Given the description of an element on the screen output the (x, y) to click on. 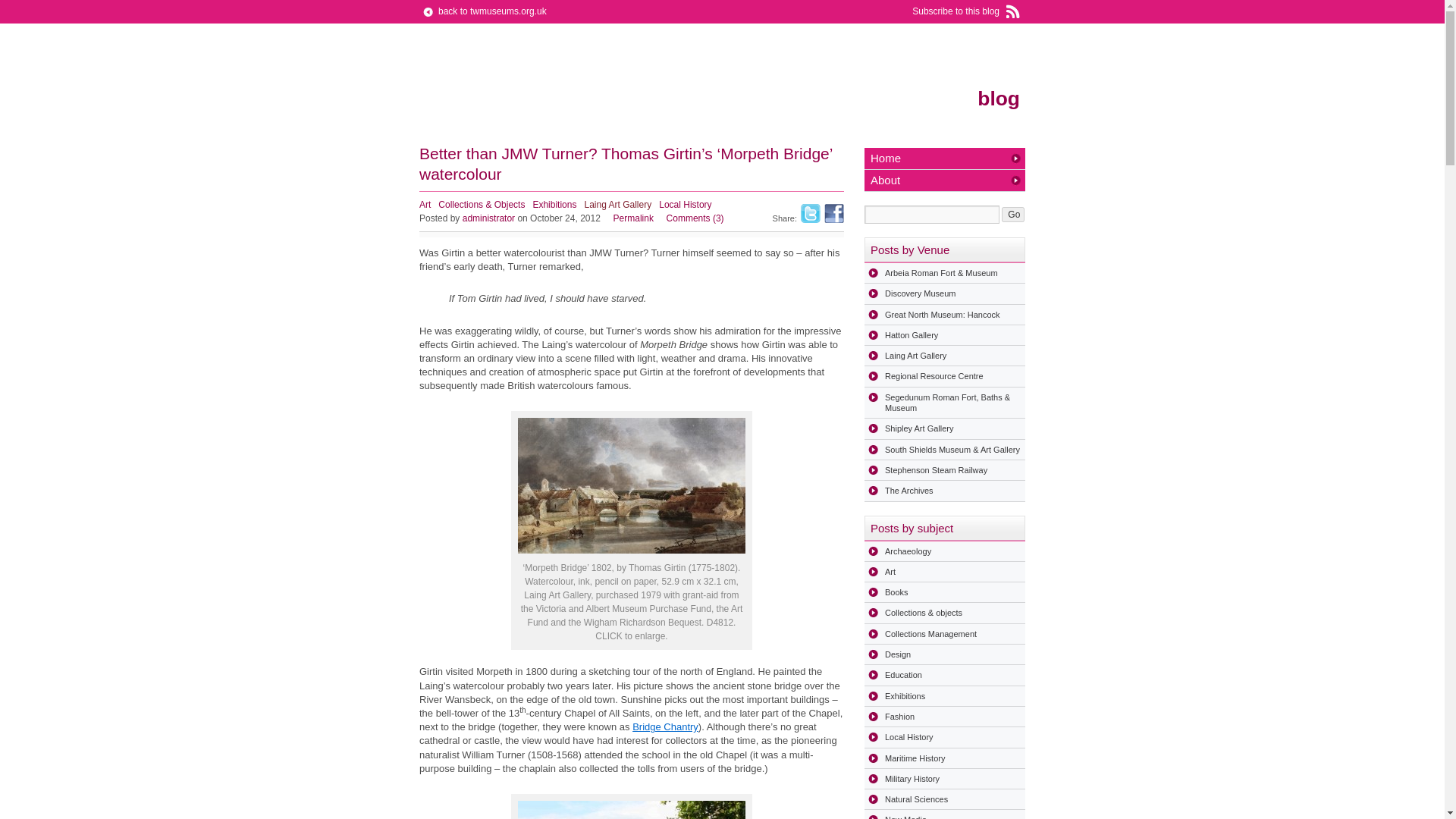
Local History (685, 204)
Home (944, 158)
Share this post on Twitter (810, 212)
View all posts by administrator (489, 217)
back to twmuseums.org.uk (483, 10)
Home (944, 158)
Twitter (810, 212)
Subscribe to this blog (968, 11)
Go (1013, 214)
administrator (489, 217)
